Given the description of an element on the screen output the (x, y) to click on. 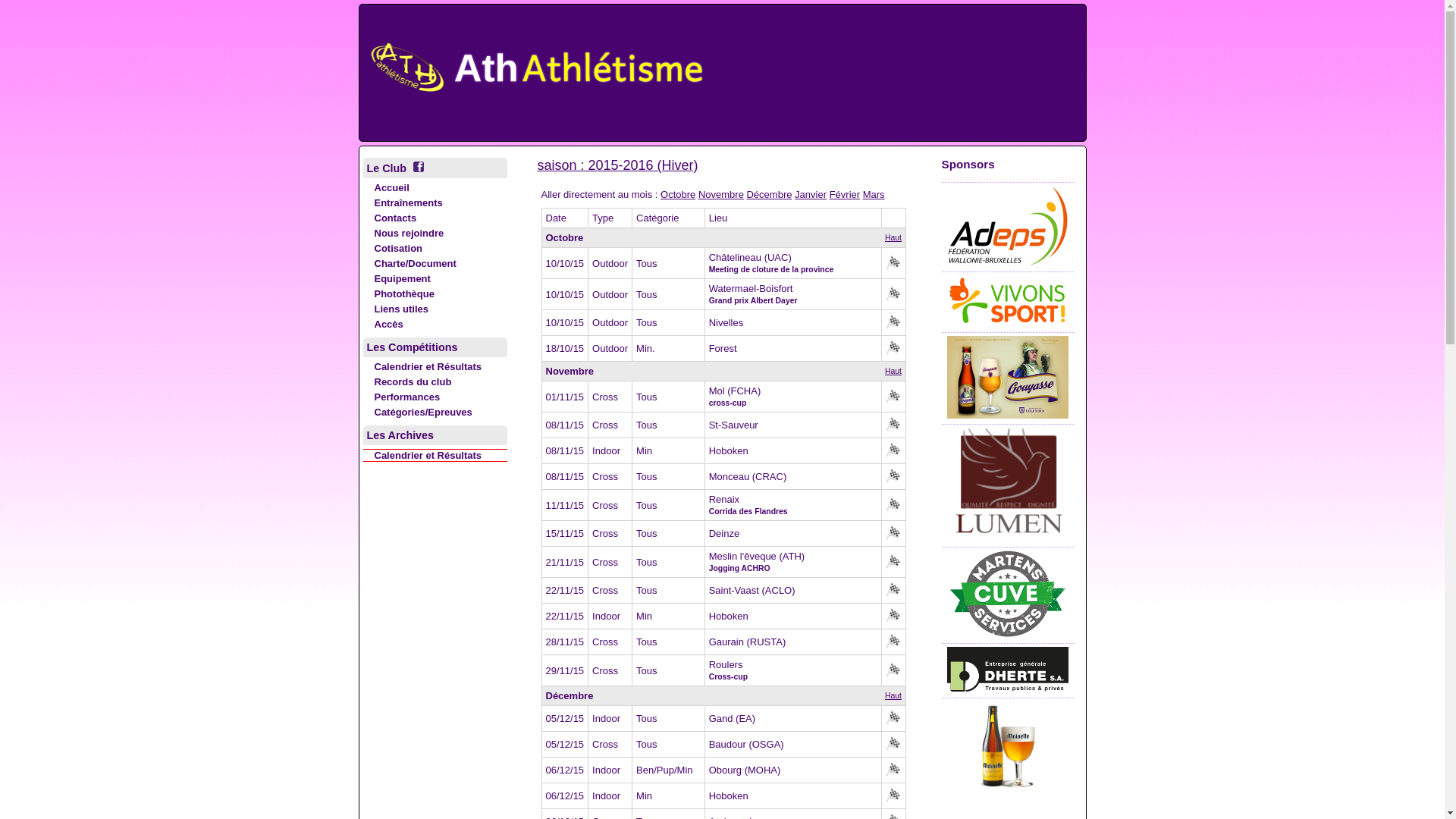
Octobre Element type: text (677, 194)
Accueil Element type: text (385, 187)
Cotisation Element type: text (392, 248)
Equipement Element type: text (395, 278)
Vivons Sport Element type: hover (1007, 323)
facebook Element type: hover (416, 166)
Haut Element type: text (892, 371)
Contacts Element type: text (389, 217)
Performances Element type: text (400, 396)
Vivons Sport Element type: hover (1007, 262)
Haut Element type: text (892, 237)
Brasserie Dubuisson Element type: hover (1007, 788)
Haut Element type: text (892, 695)
Nous rejoindre Element type: text (402, 232)
Liens utiles Element type: text (395, 308)
Charte/Document Element type: text (408, 263)
Records du club Element type: text (406, 381)
Novembre Element type: text (720, 194)
Mars Element type: text (873, 194)
Martens cuves services Element type: hover (1007, 634)
Janvier Element type: text (810, 194)
